Given the description of an element on the screen output the (x, y) to click on. 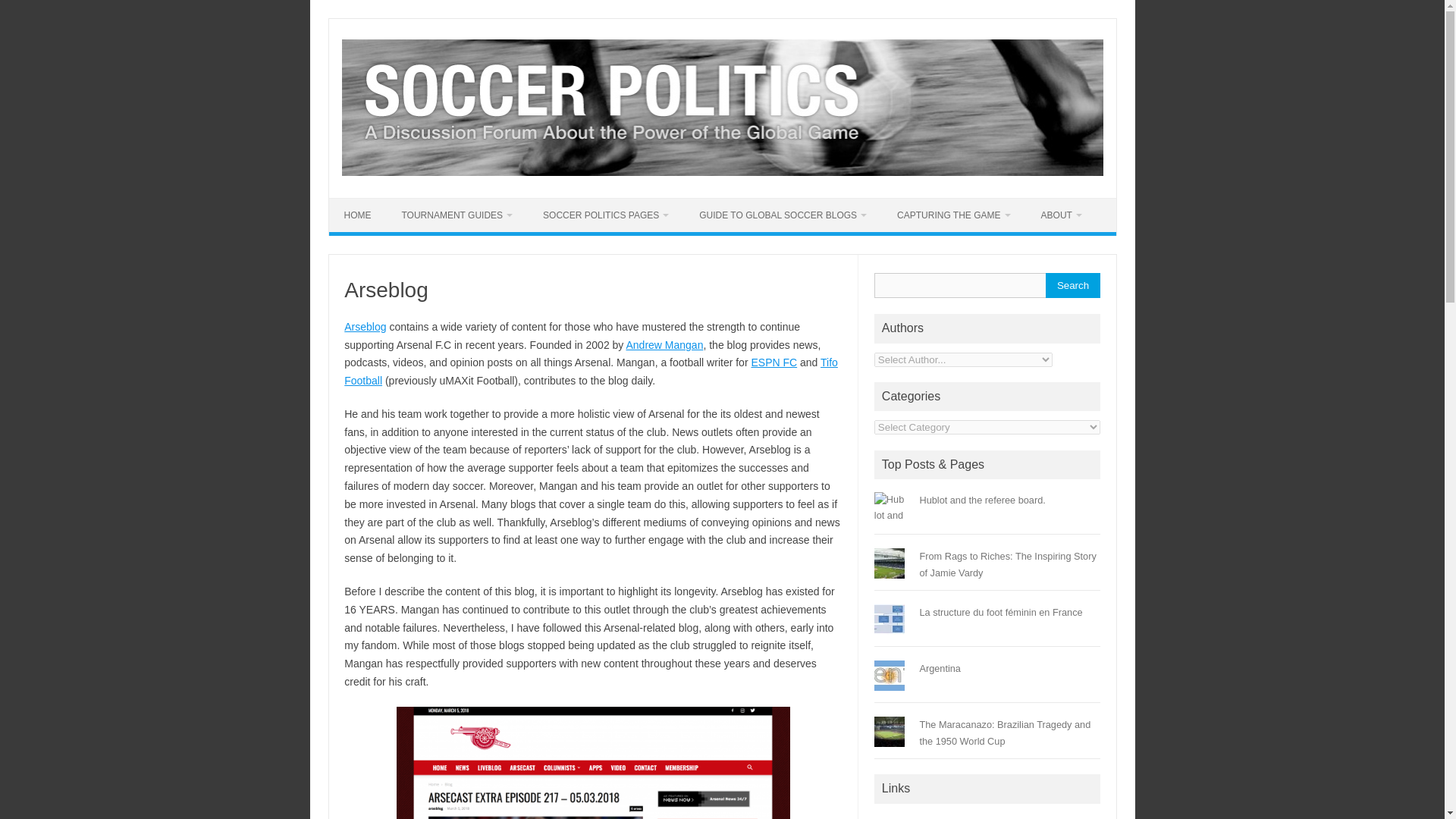
The Maracanazo: Brazilian Tragedy and the 1950 World Cup (1004, 732)
Argentina (939, 668)
From Rags to Riches: The Inspiring Story of Jamie Vardy (1007, 564)
TOURNAMENT GUIDES (457, 215)
Search (1072, 285)
HOME (358, 215)
Hublot and the referee board. (981, 500)
